Given the description of an element on the screen output the (x, y) to click on. 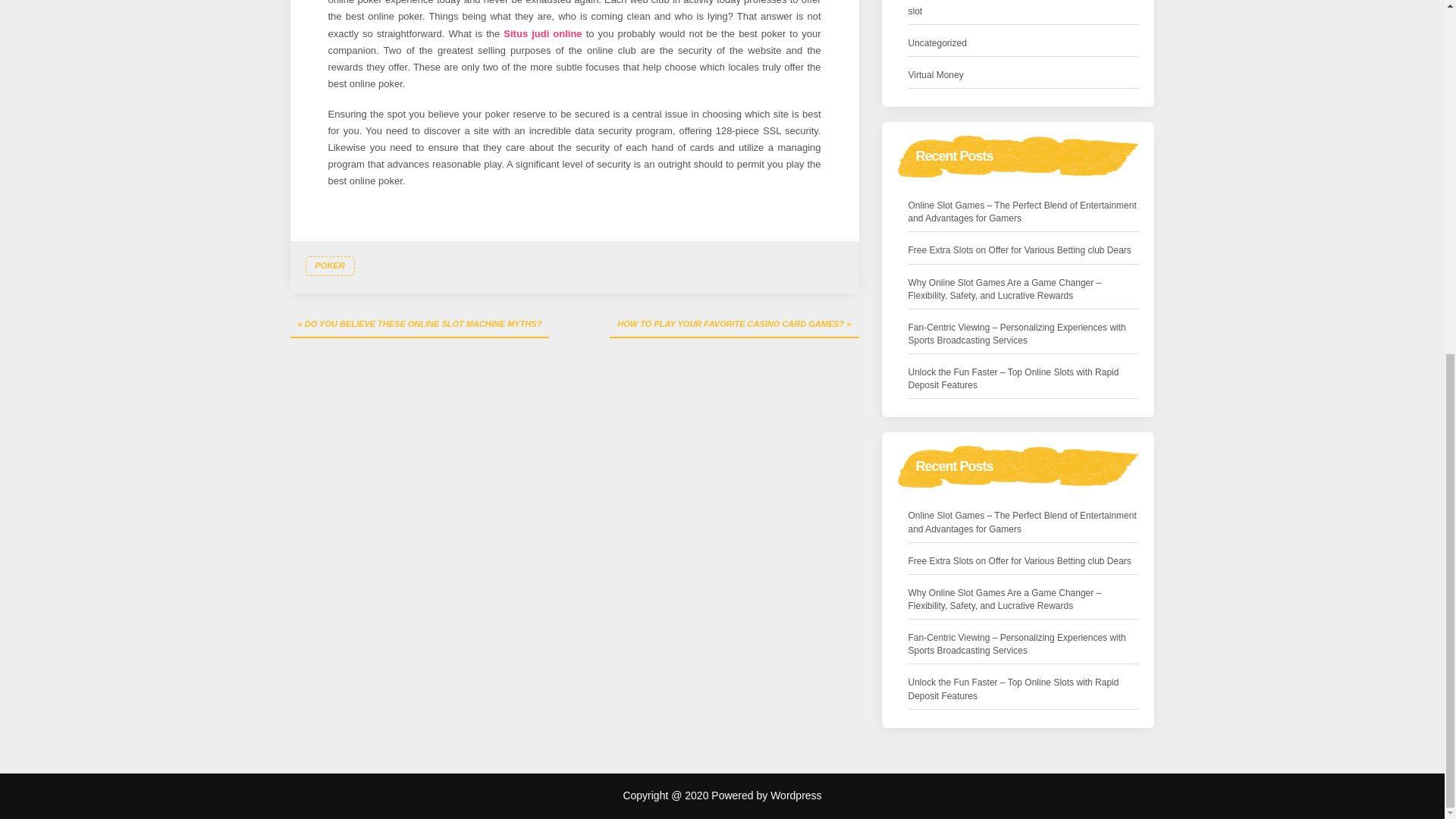
Uncategorized (937, 43)
Free Extra Slots on Offer for Various Betting club Dears (1019, 561)
POKER (328, 266)
Situs judi online (541, 32)
DO YOU BELIEVE THESE ONLINE SLOT MACHINE MYTHS? (418, 325)
Free Extra Slots on Offer for Various Betting club Dears (1019, 250)
HOW TO PLAY YOUR FAVORITE CASINO CARD GAMES? (734, 325)
slot (915, 11)
Virtual Money (935, 75)
